Given the description of an element on the screen output the (x, y) to click on. 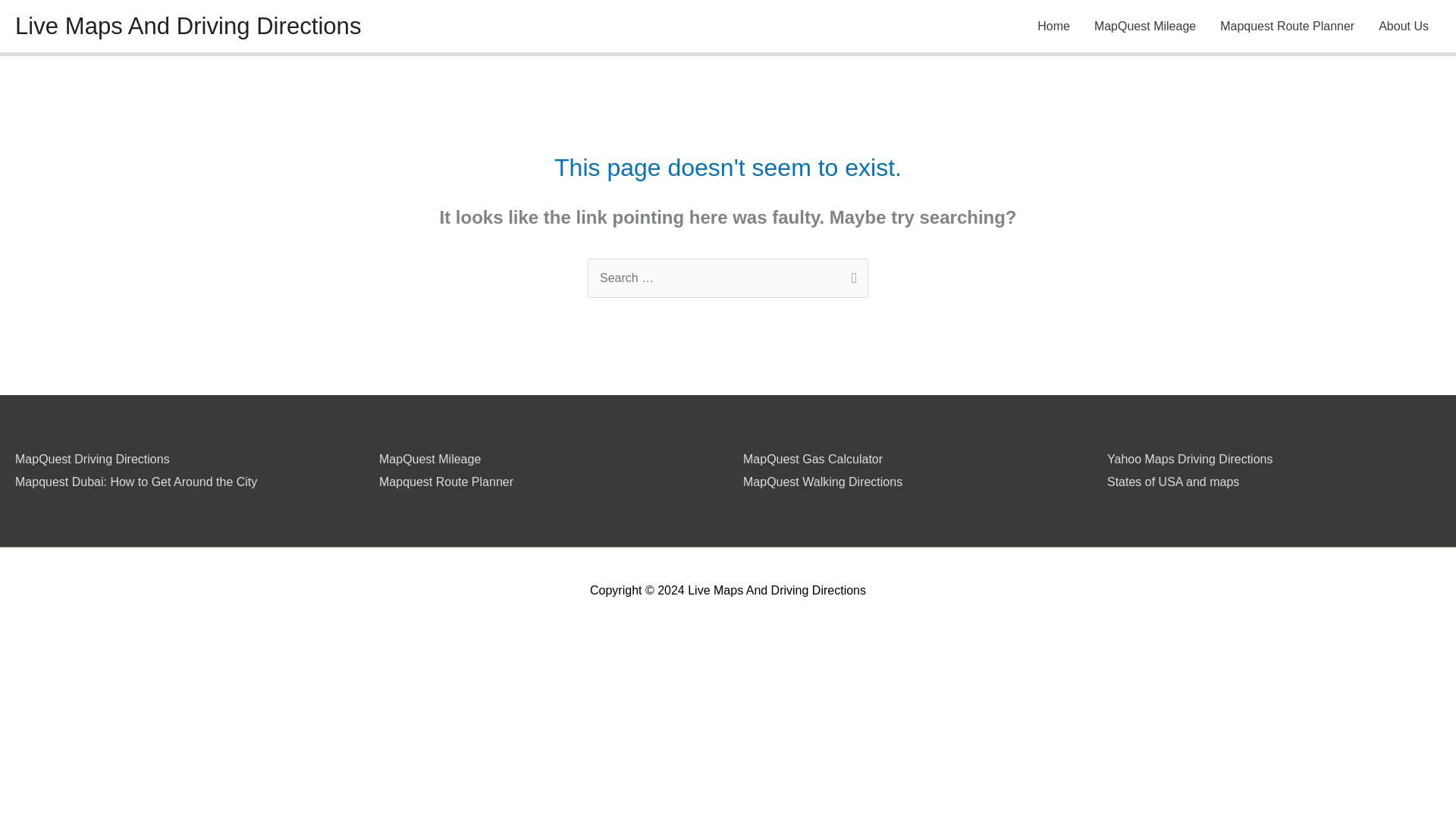
and (1197, 481)
MapQuest Driving Directions (92, 459)
Mapquest Dubai: How to Get Around the City (135, 481)
MapQuest Walking Directions (822, 481)
Mapquest Route Planner (445, 481)
Home (1053, 26)
Live Maps And Driving Directions (187, 26)
MapQuest Mileage (429, 459)
MapQuest Mileage (1144, 26)
maps (1224, 481)
